Given the description of an element on the screen output the (x, y) to click on. 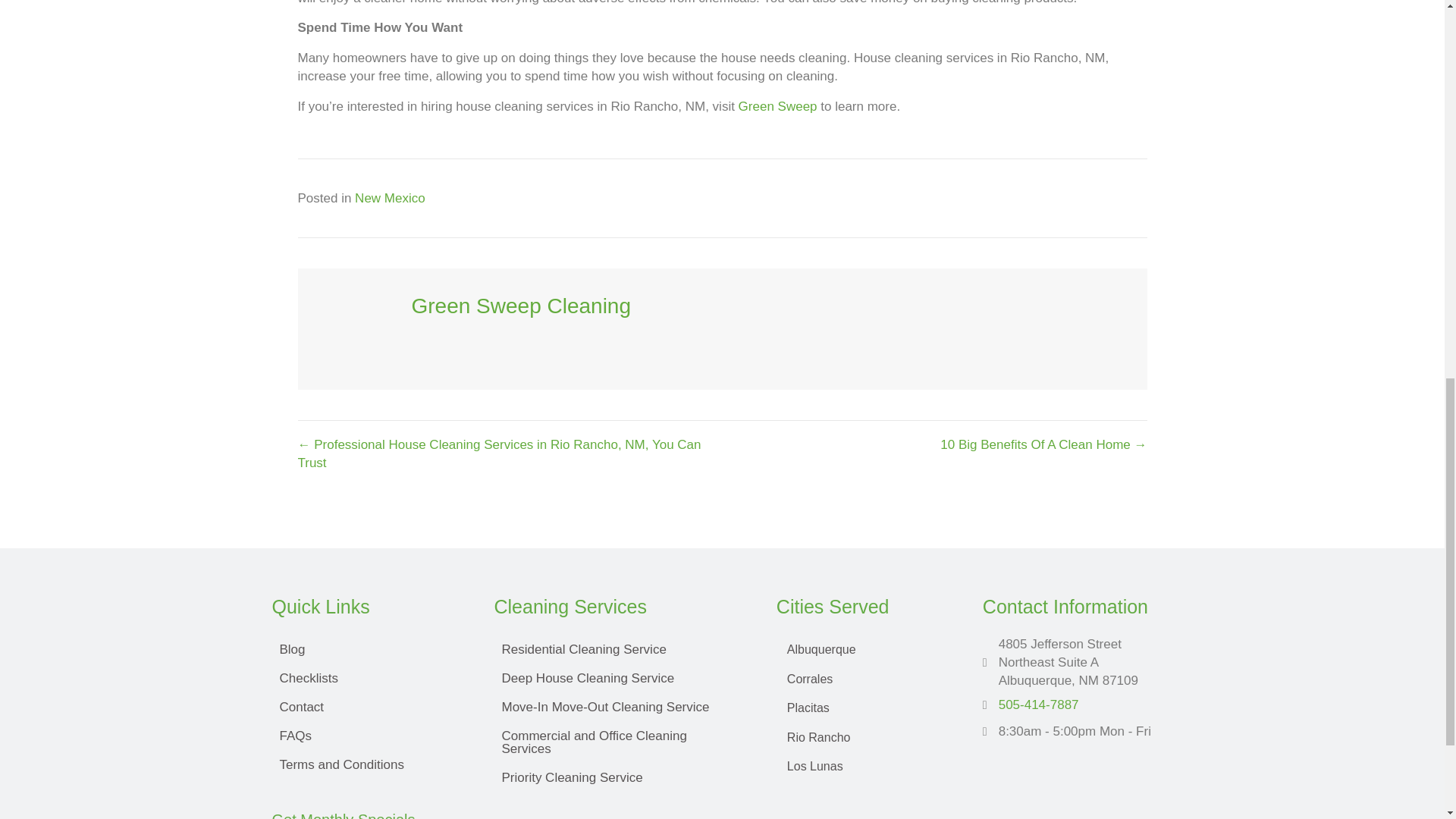
Residential Cleaning Service (620, 649)
Checklists (366, 678)
Green Sweep (777, 106)
New Mexico (390, 197)
Blog (366, 649)
Blog (366, 649)
Contact (366, 706)
Move-In Move-Out Cleaning Service (620, 706)
Checklists (366, 678)
FAQs (366, 735)
Albuquerque (864, 649)
Commercial and Office Cleaning Services (620, 741)
Priority Cleaning Service (620, 777)
Deep House Cleaning Service (620, 678)
Terms and Conditions (366, 764)
